Given the description of an element on the screen output the (x, y) to click on. 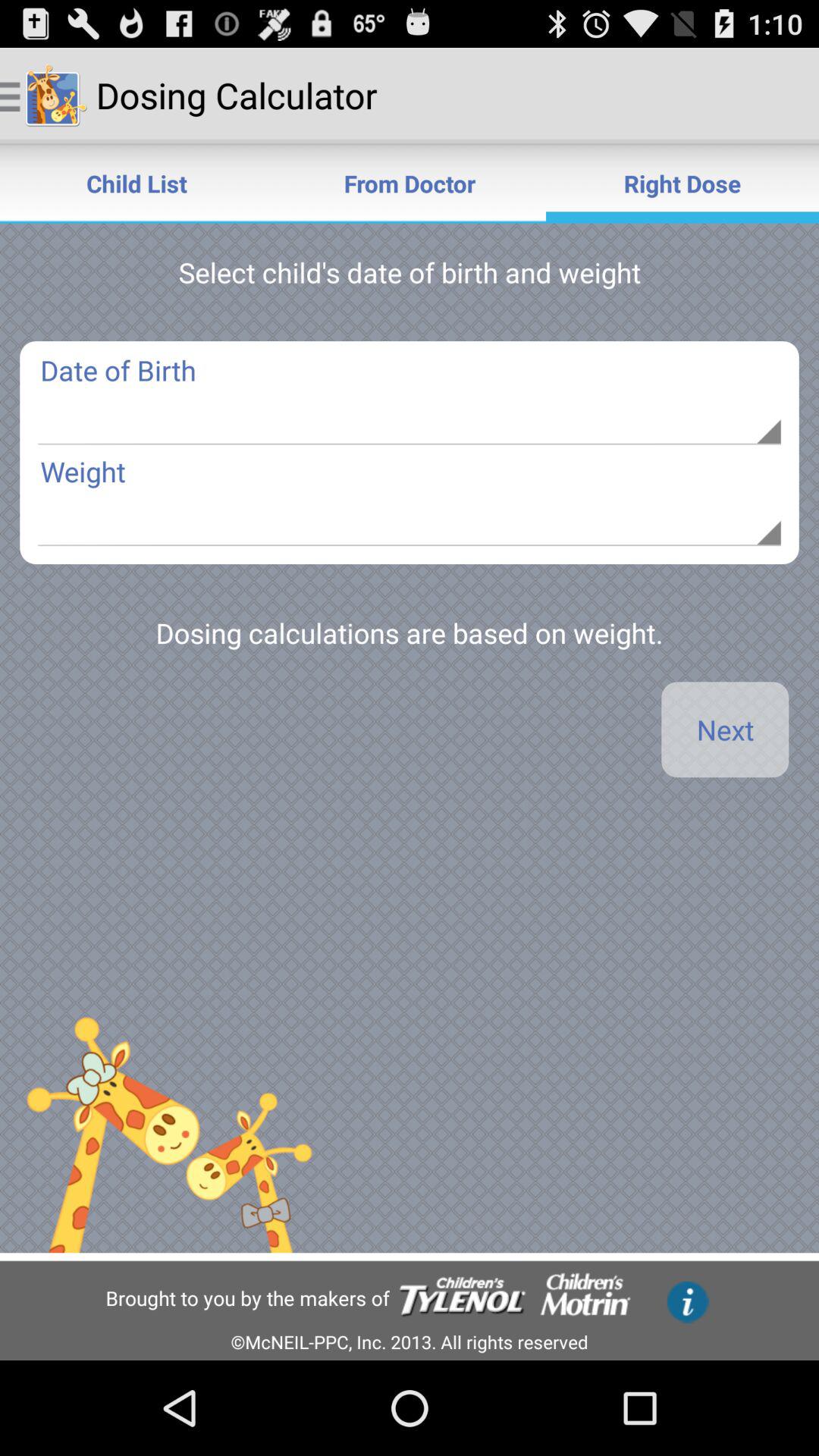
open the item to the right of from doctor icon (682, 183)
